Given the description of an element on the screen output the (x, y) to click on. 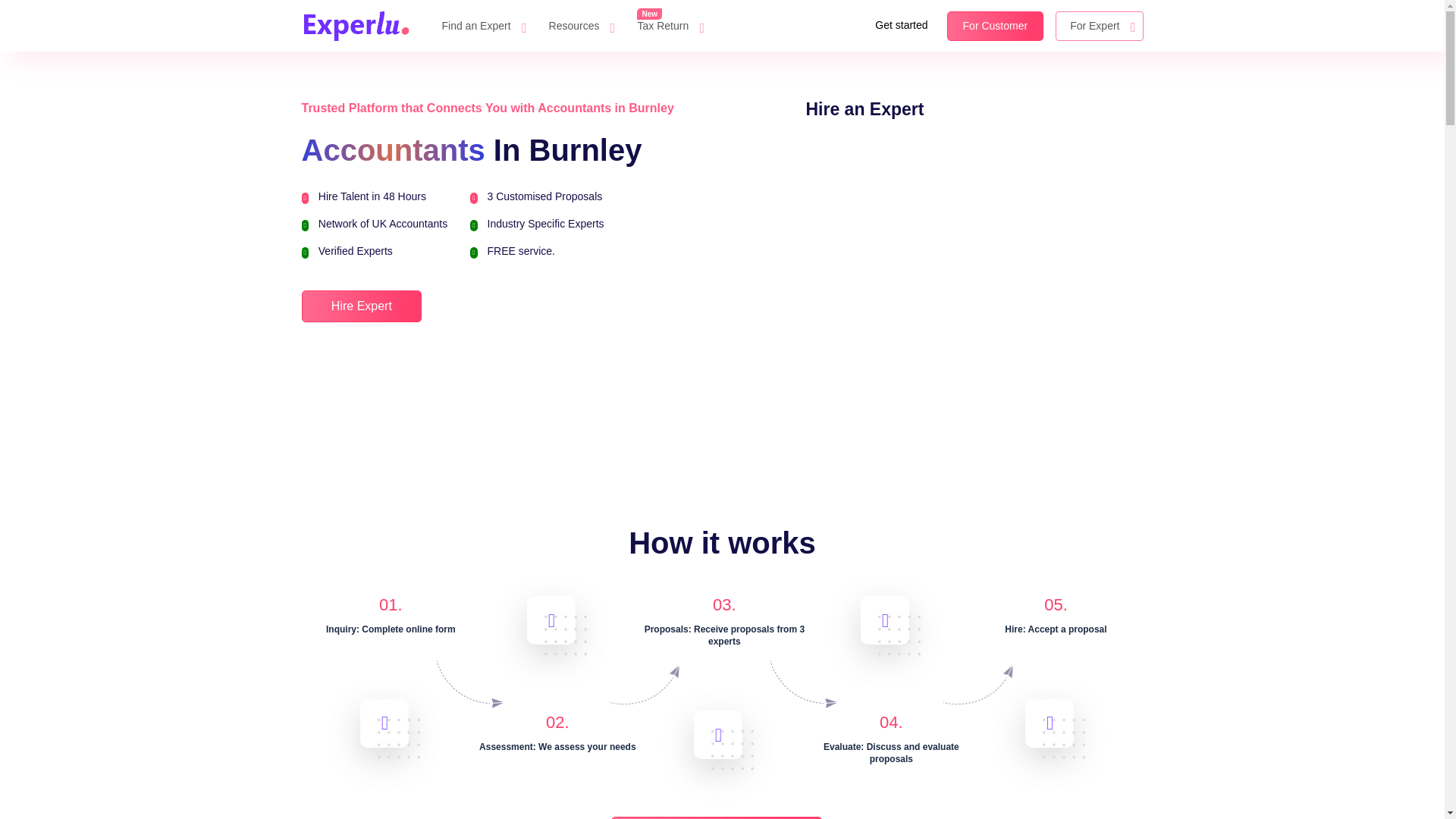
Tax Return (662, 26)
Hire Expert (716, 817)
Resources (573, 26)
Hire Expert (361, 306)
For Customer (995, 25)
Find an Expert (476, 26)
Experlu UK-Get started form - Inner pages without images (973, 295)
For Expert (1098, 25)
Get started (901, 25)
